Given the description of an element on the screen output the (x, y) to click on. 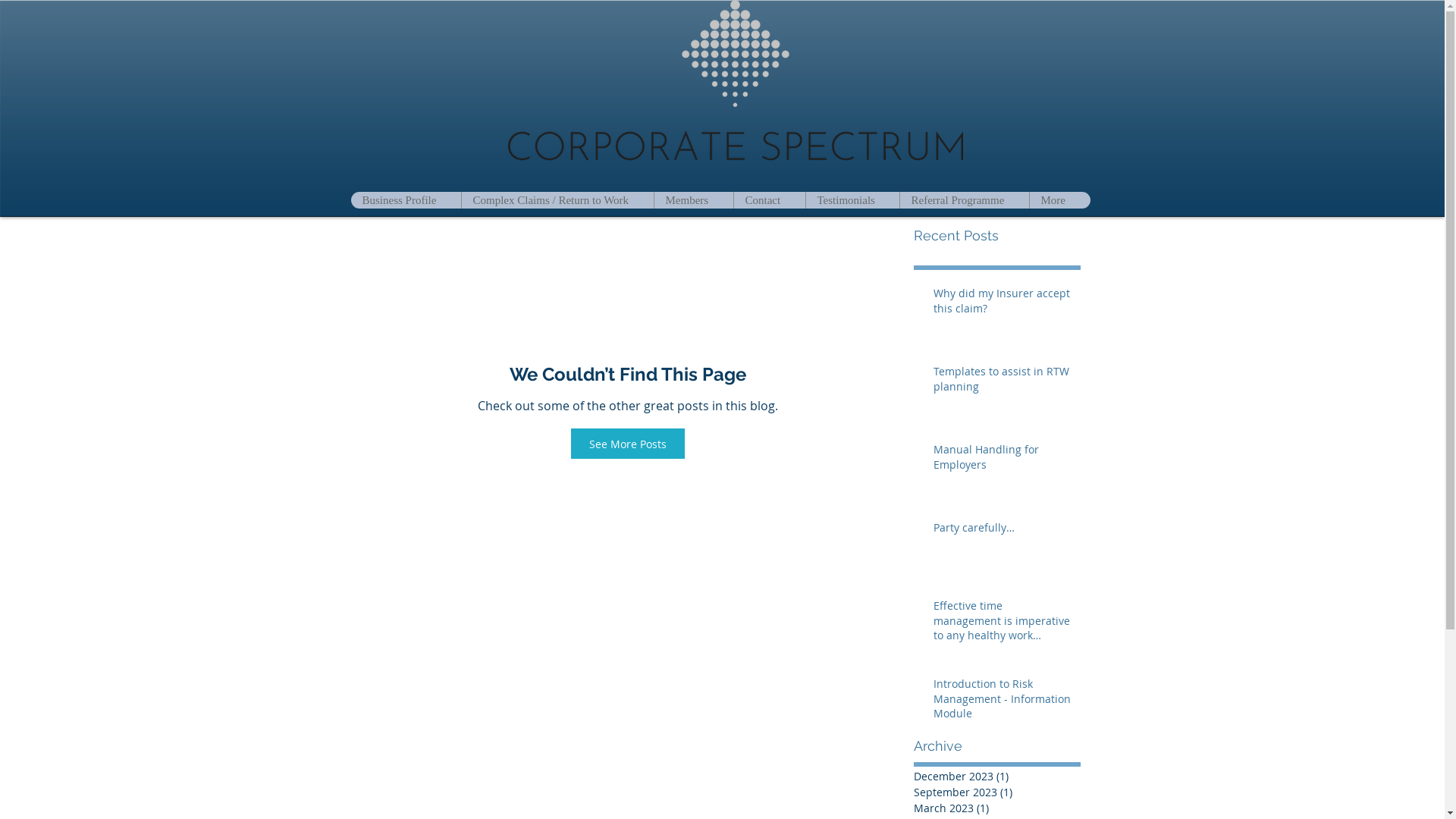
Testimonials Element type: text (852, 199)
Business Profile Element type: text (405, 199)
Templates to assist in RTW planning Element type: text (1001, 381)
September 2023 (1) Element type: text (992, 792)
See More Posts Element type: text (627, 443)
Manual Handling for Employers Element type: text (1001, 459)
March 2023 (1) Element type: text (992, 807)
Referral Programme Element type: text (964, 199)
Why did my Insurer accept this claim? Element type: text (1001, 303)
Introduction to Risk Management - Information Module Element type: text (1001, 701)
Contact Element type: text (768, 199)
Complex Claims / Return to Work Element type: text (557, 199)
December 2023 (1) Element type: text (992, 776)
Members Element type: text (693, 199)
